Given the description of an element on the screen output the (x, y) to click on. 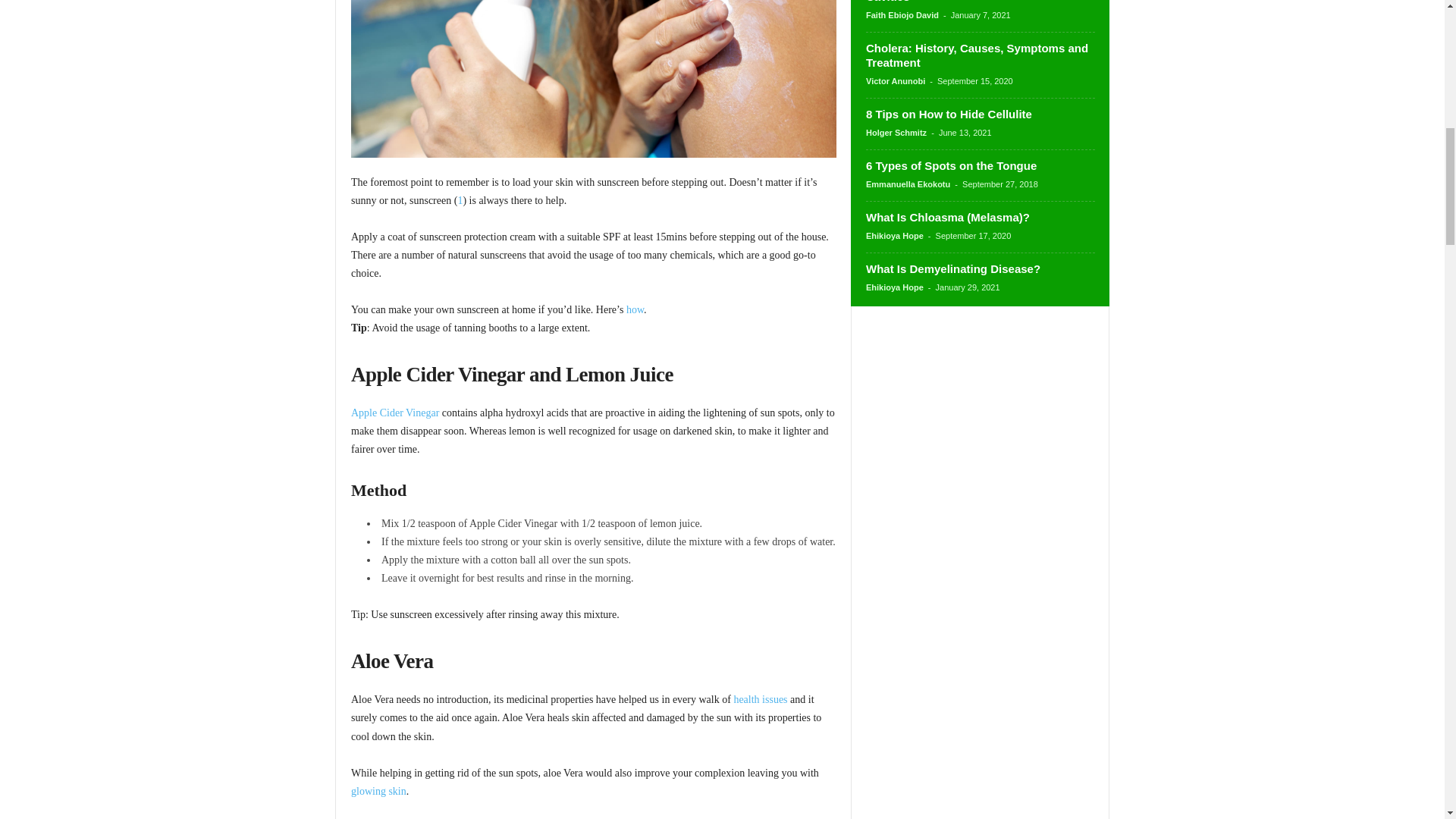
health issues (760, 699)
glowing skin (378, 790)
how (634, 309)
Apple Cider Vinegar (394, 412)
